Given the description of an element on the screen output the (x, y) to click on. 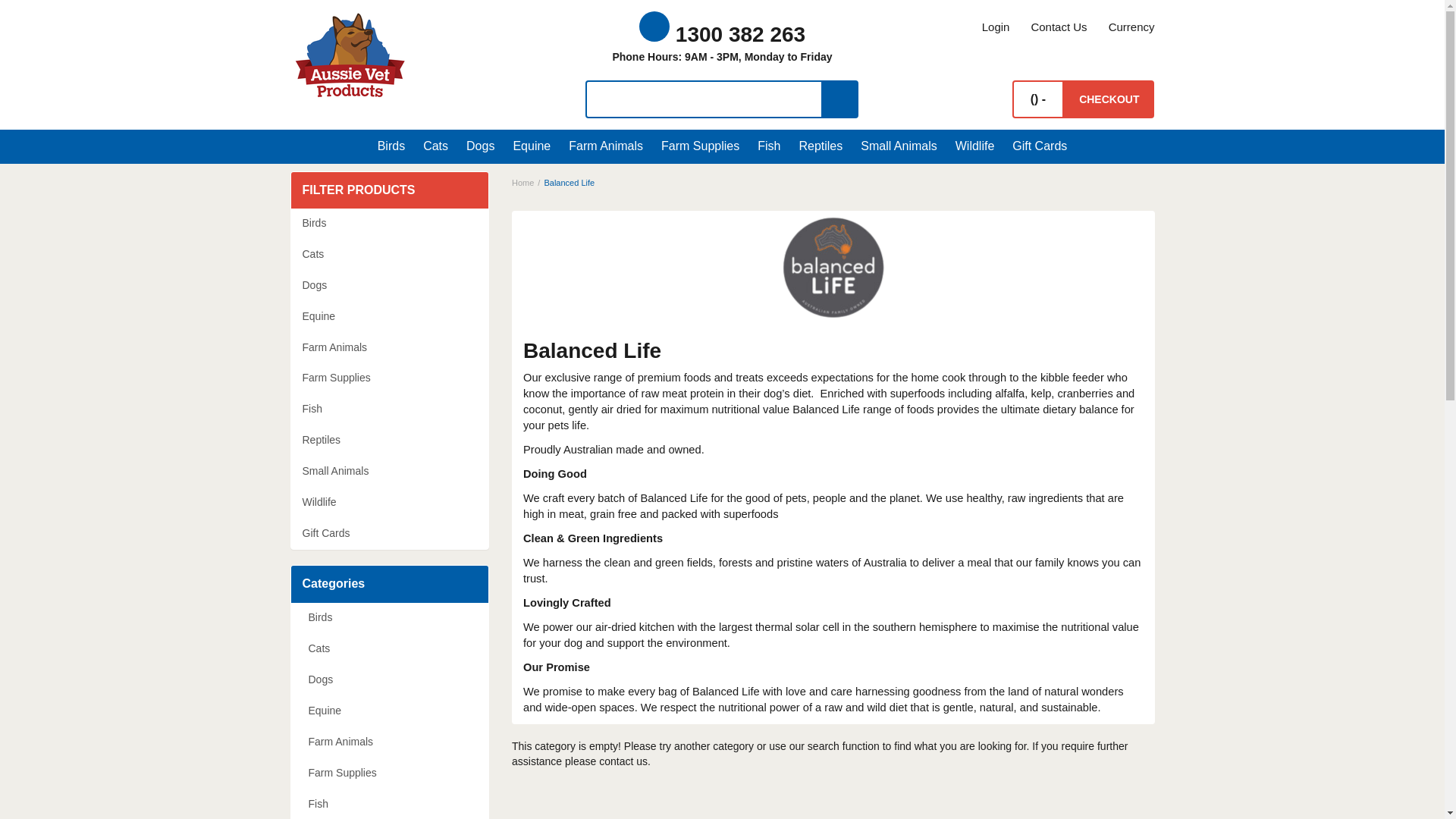
Aussie Vet Products (349, 55)
Birds (395, 146)
CHECKOUT (1109, 98)
Contact Us (1058, 26)
Currency (1125, 26)
Search (840, 98)
1300 382 263 (722, 33)
Login (995, 26)
Login (995, 26)
Cats (435, 146)
